Given the description of an element on the screen output the (x, y) to click on. 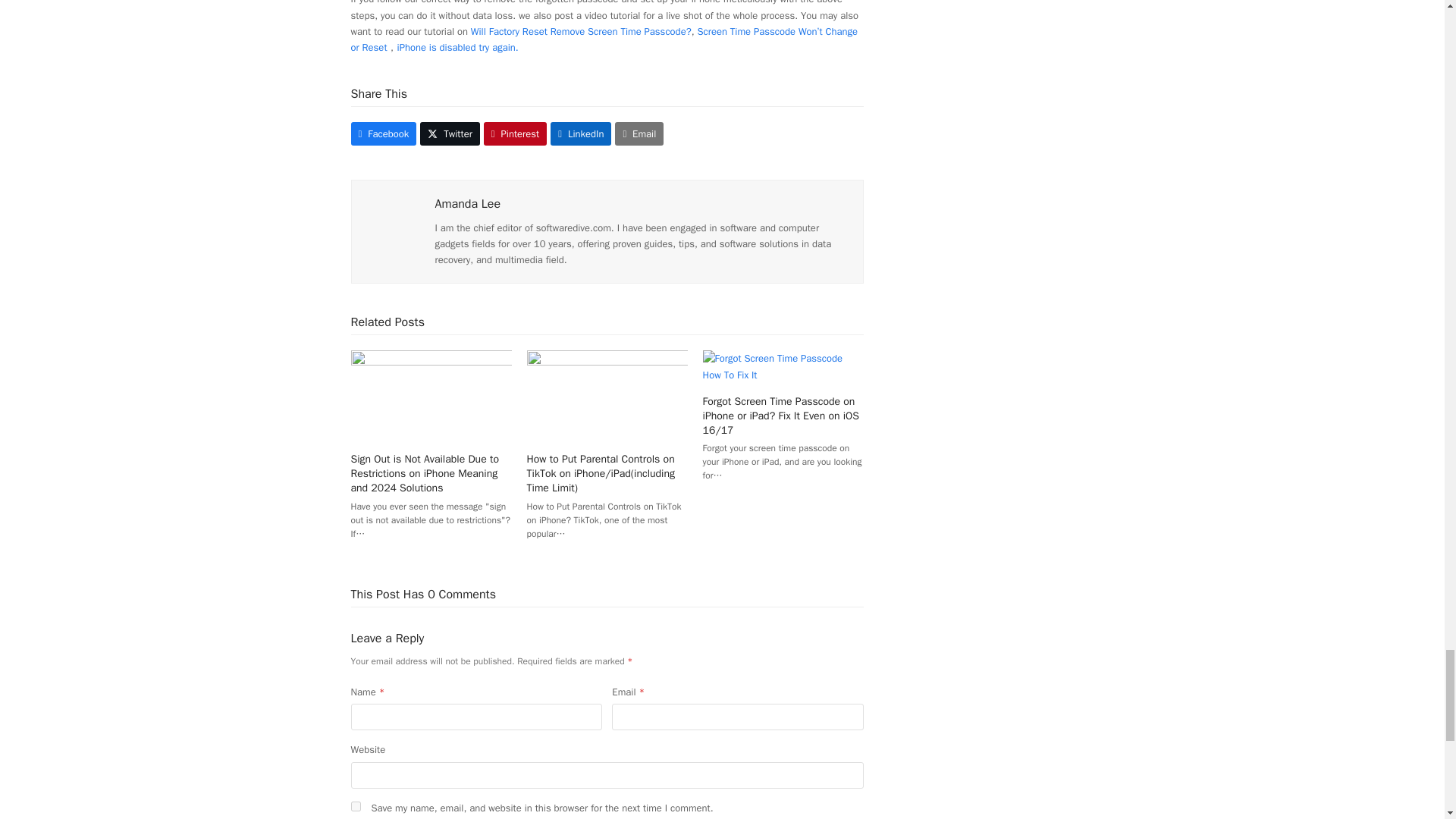
LinkedIn (580, 133)
iPhone is disabled try again. (457, 47)
Email (638, 133)
Will Factory Reset Remove Screen Time Passcode? (580, 31)
yes (354, 806)
Facebook (383, 133)
Twitter (450, 133)
Pinterest (515, 133)
